Given the description of an element on the screen output the (x, y) to click on. 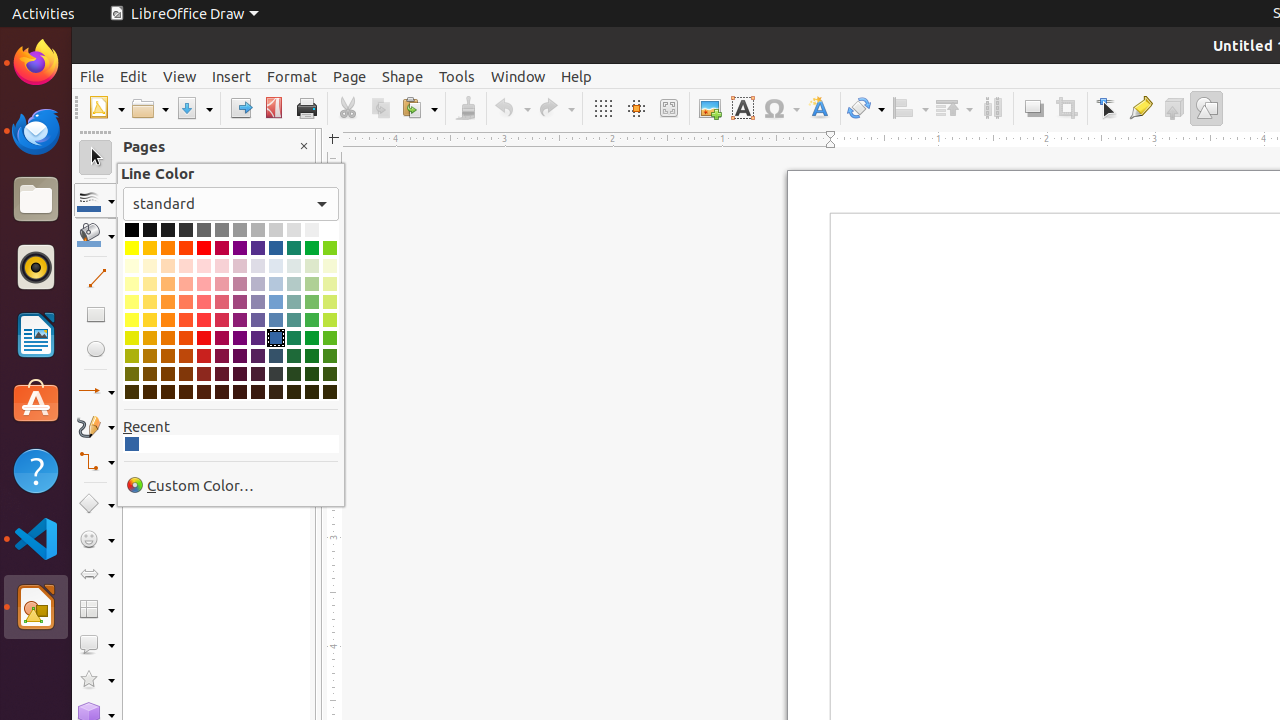
Light Brick 2 Element type: list-item (186, 302)
Dark Gold 2 Element type: list-item (150, 356)
Light Orange 1 Element type: list-item (168, 320)
Dark Teal 4 Element type: list-item (294, 392)
Window Element type: menu (518, 76)
